Given the description of an element on the screen output the (x, y) to click on. 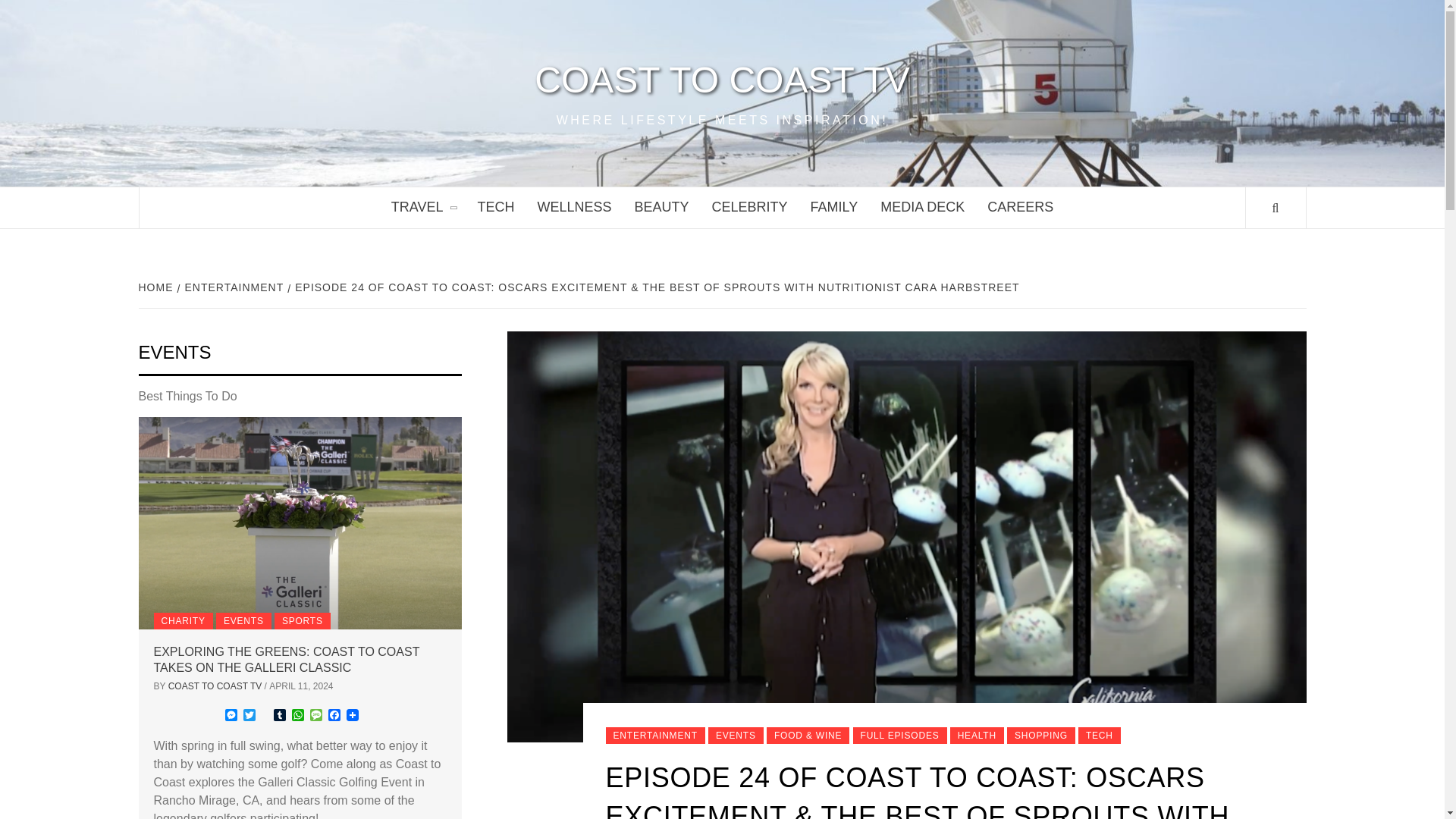
FAMILY (834, 207)
COAST TO COAST TV (721, 80)
SHOPPING (1041, 735)
HOME (157, 287)
ENTERTAINMENT (232, 287)
HEALTH (977, 735)
TECH (495, 207)
FULL EPISODES (898, 735)
CELEBRITY (748, 207)
TECH (1099, 735)
